Given the description of an element on the screen output the (x, y) to click on. 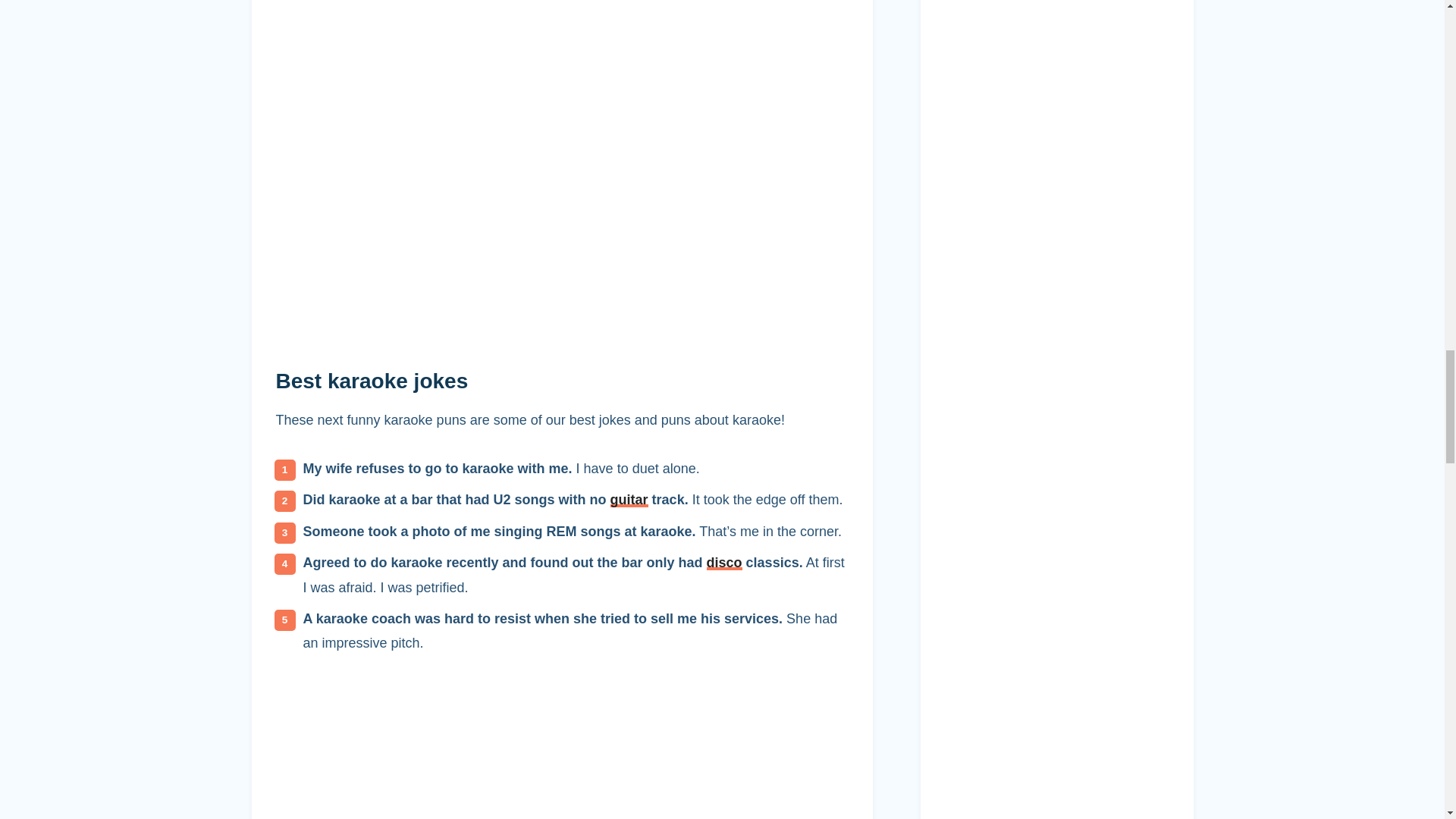
guitar (628, 499)
disco (724, 562)
guitar (628, 499)
disco (724, 562)
